Given the description of an element on the screen output the (x, y) to click on. 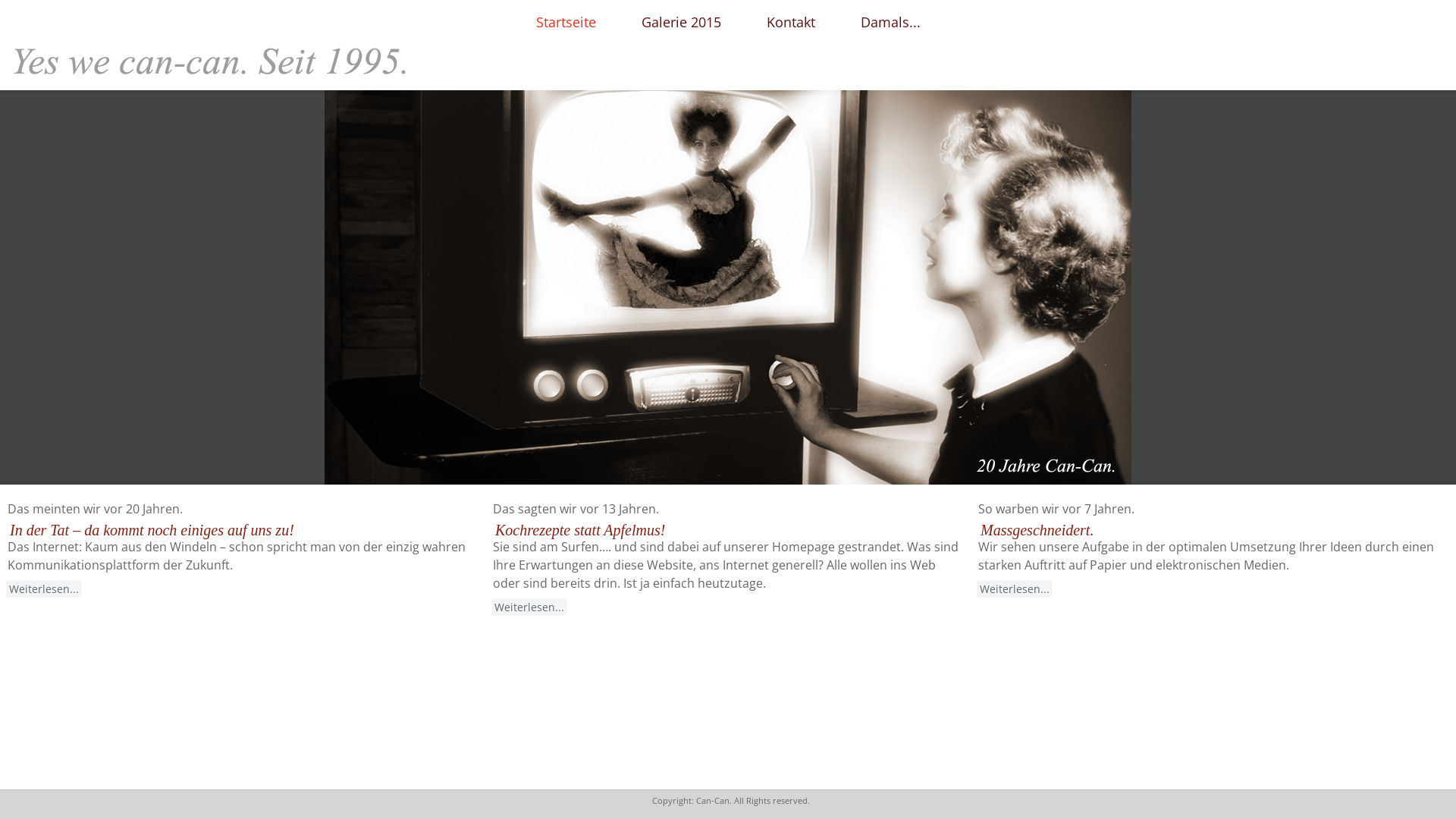
Weiterlesen... Element type: text (1014, 588)
Kontakt Element type: text (790, 22)
Weiterlesen... Element type: text (528, 606)
Startseite Element type: text (565, 22)
Weiterlesen... Element type: text (43, 588)
Galerie 2015 Element type: text (680, 22)
Damals... Element type: text (889, 22)
